Given the description of an element on the screen output the (x, y) to click on. 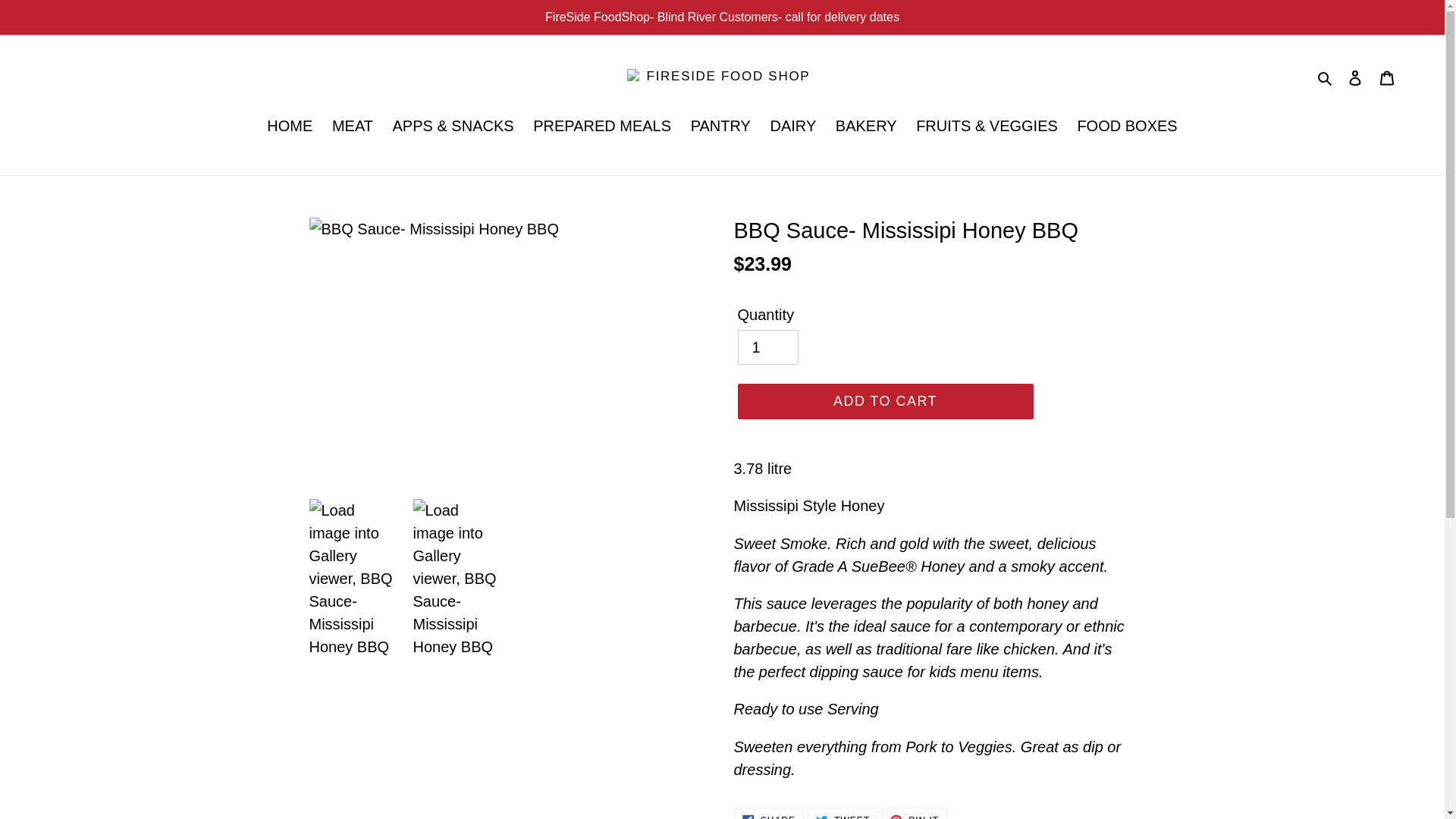
PREPARED MEALS (768, 813)
Search (601, 126)
1 (1326, 76)
PANTRY (766, 347)
BAKERY (720, 126)
FOOD BOXES (914, 813)
DAIRY (866, 126)
ADD TO CART (1126, 126)
MEAT (792, 126)
HOME (842, 813)
